Given the description of an element on the screen output the (x, y) to click on. 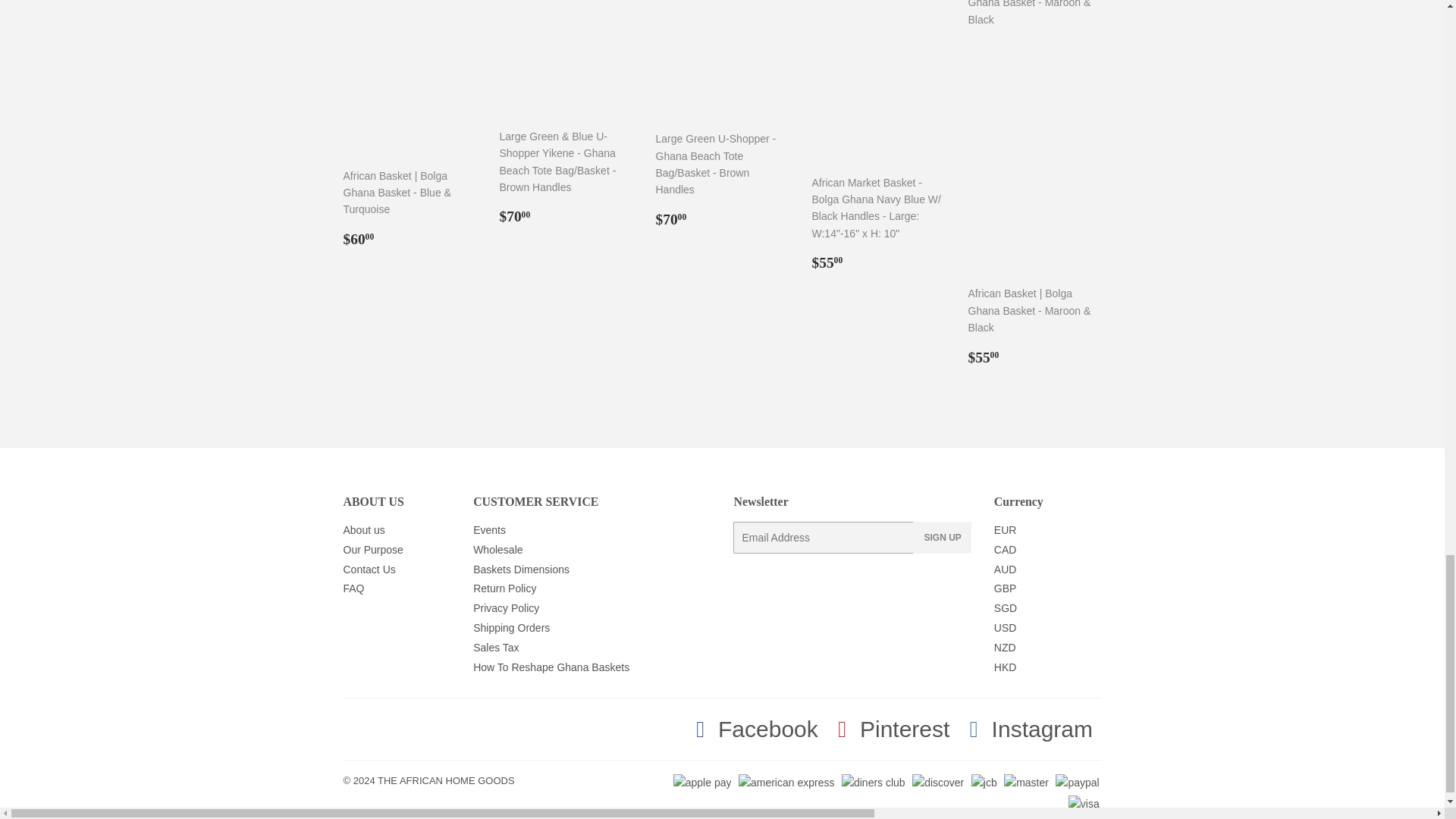
THE AFRICAN HOME GOODS on Facebook (752, 729)
THE AFRICAN HOME GOODS on Instagram (1027, 729)
THE AFRICAN HOME GOODS on Pinterest (889, 729)
